Given the description of an element on the screen output the (x, y) to click on. 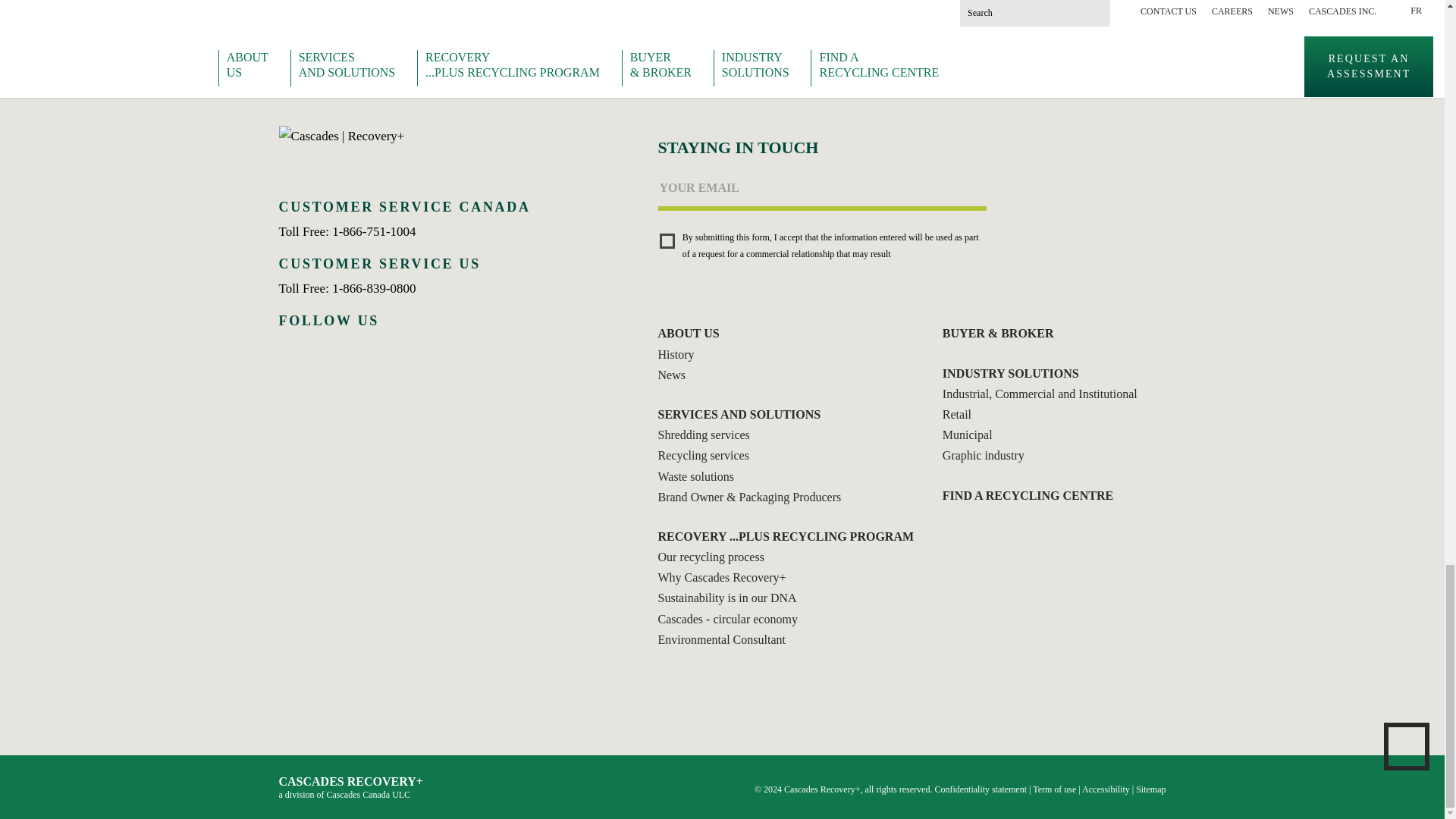
History (684, 353)
News (679, 374)
